Given the description of an element on the screen output the (x, y) to click on. 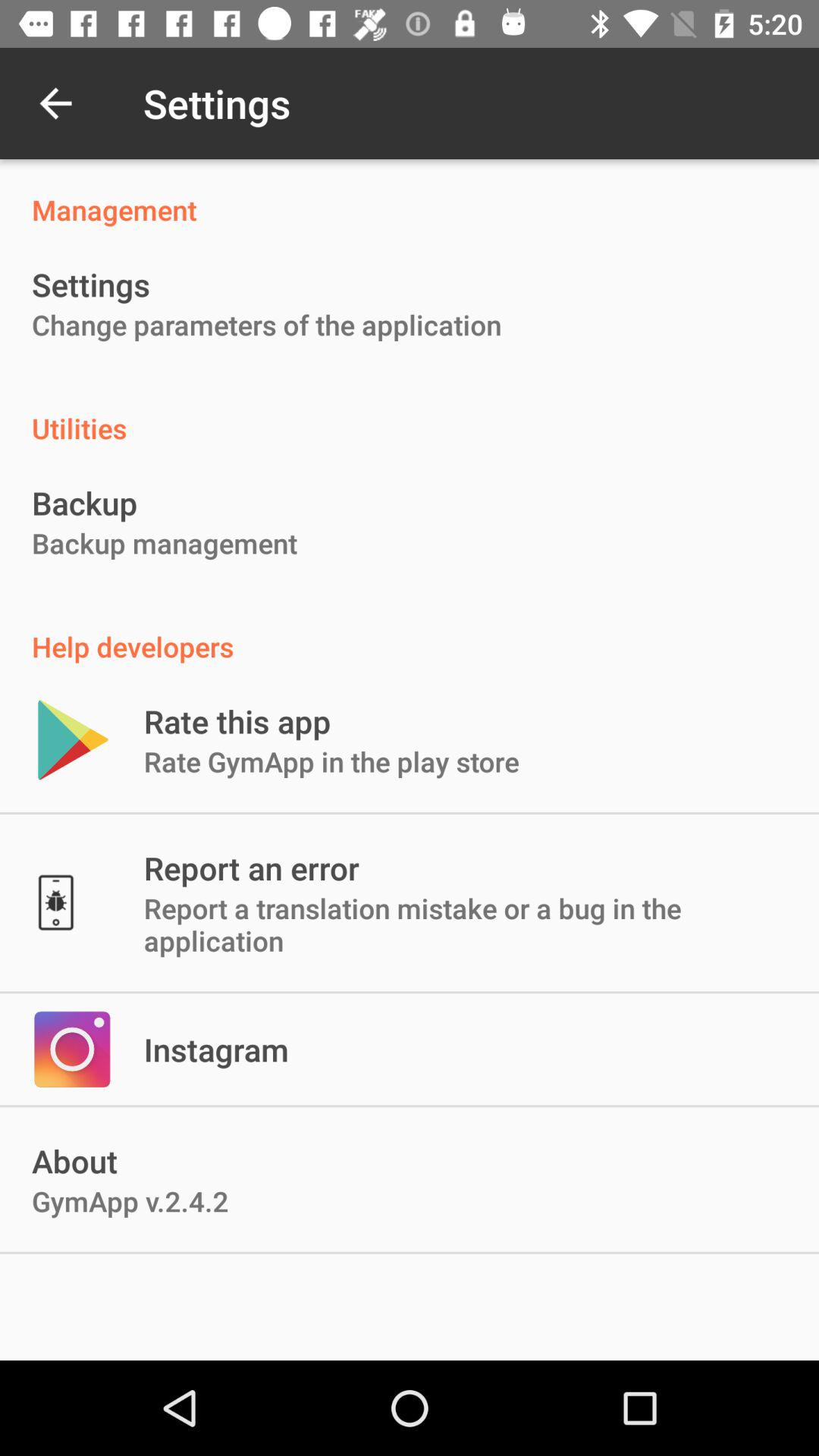
scroll to the change parameters of item (266, 324)
